Given the description of an element on the screen output the (x, y) to click on. 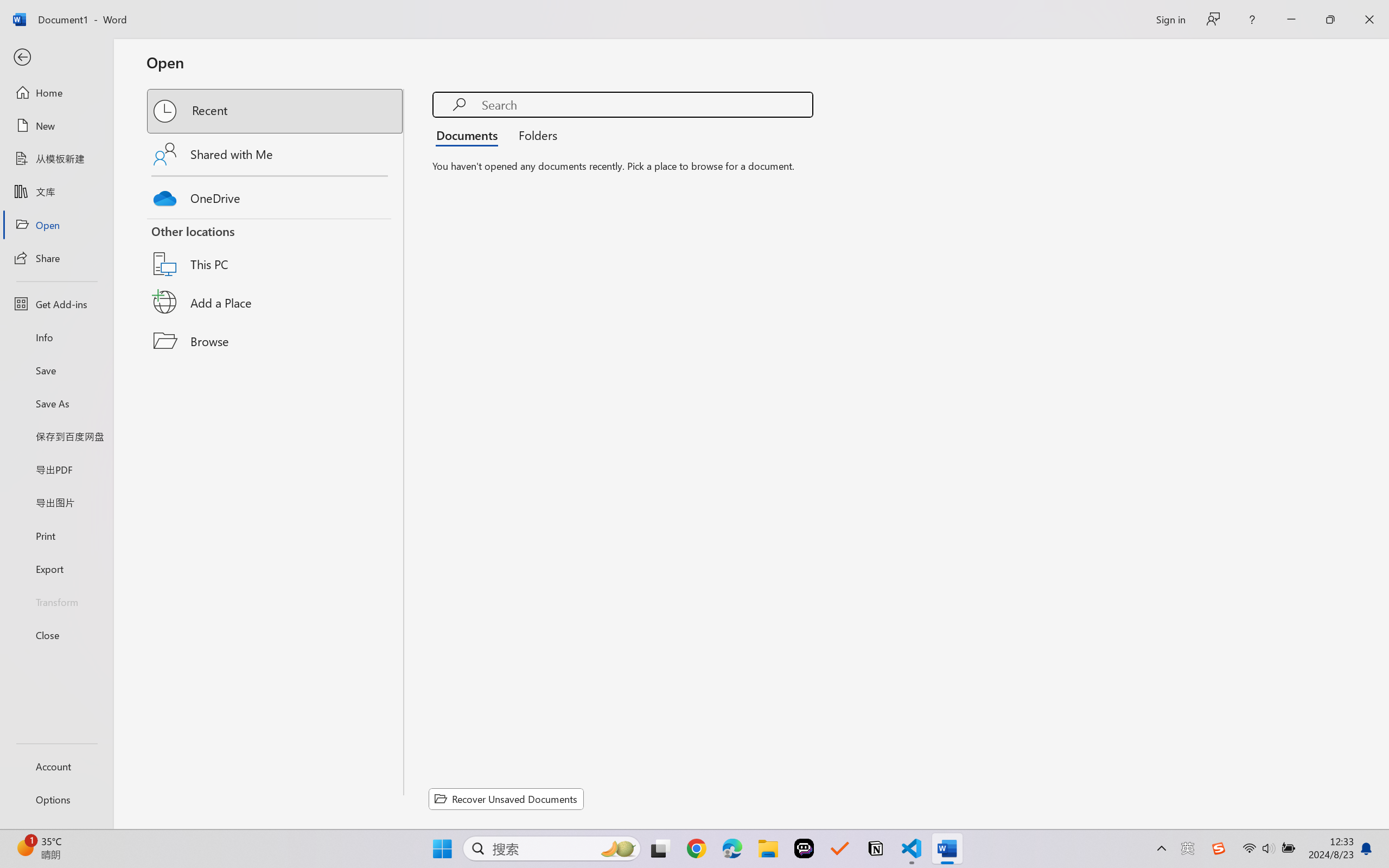
Add a Place (275, 302)
Get Add-ins (56, 303)
Recover Unsaved Documents (506, 798)
Options (56, 798)
Shared with Me (275, 153)
Export (56, 568)
